Given the description of an element on the screen output the (x, y) to click on. 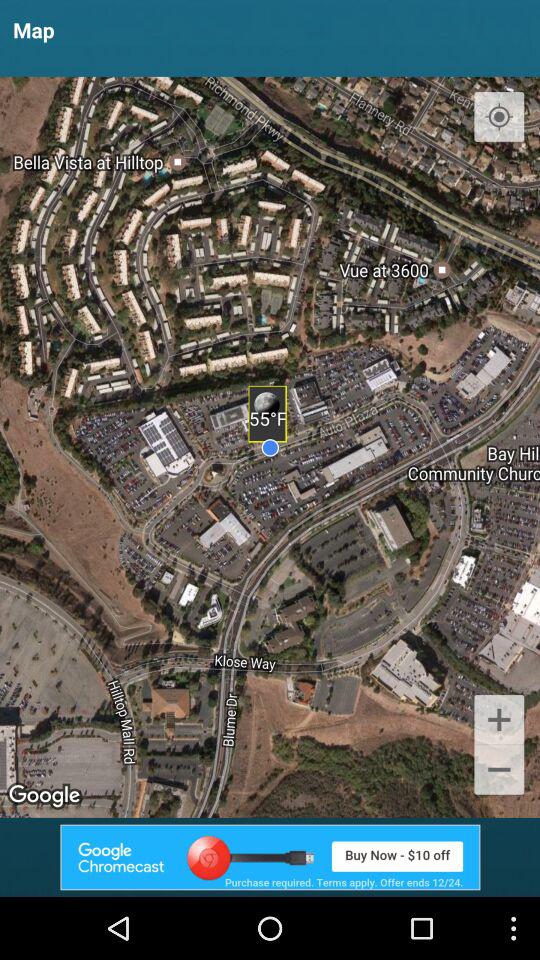
click advertisement (270, 857)
